Given the description of an element on the screen output the (x, y) to click on. 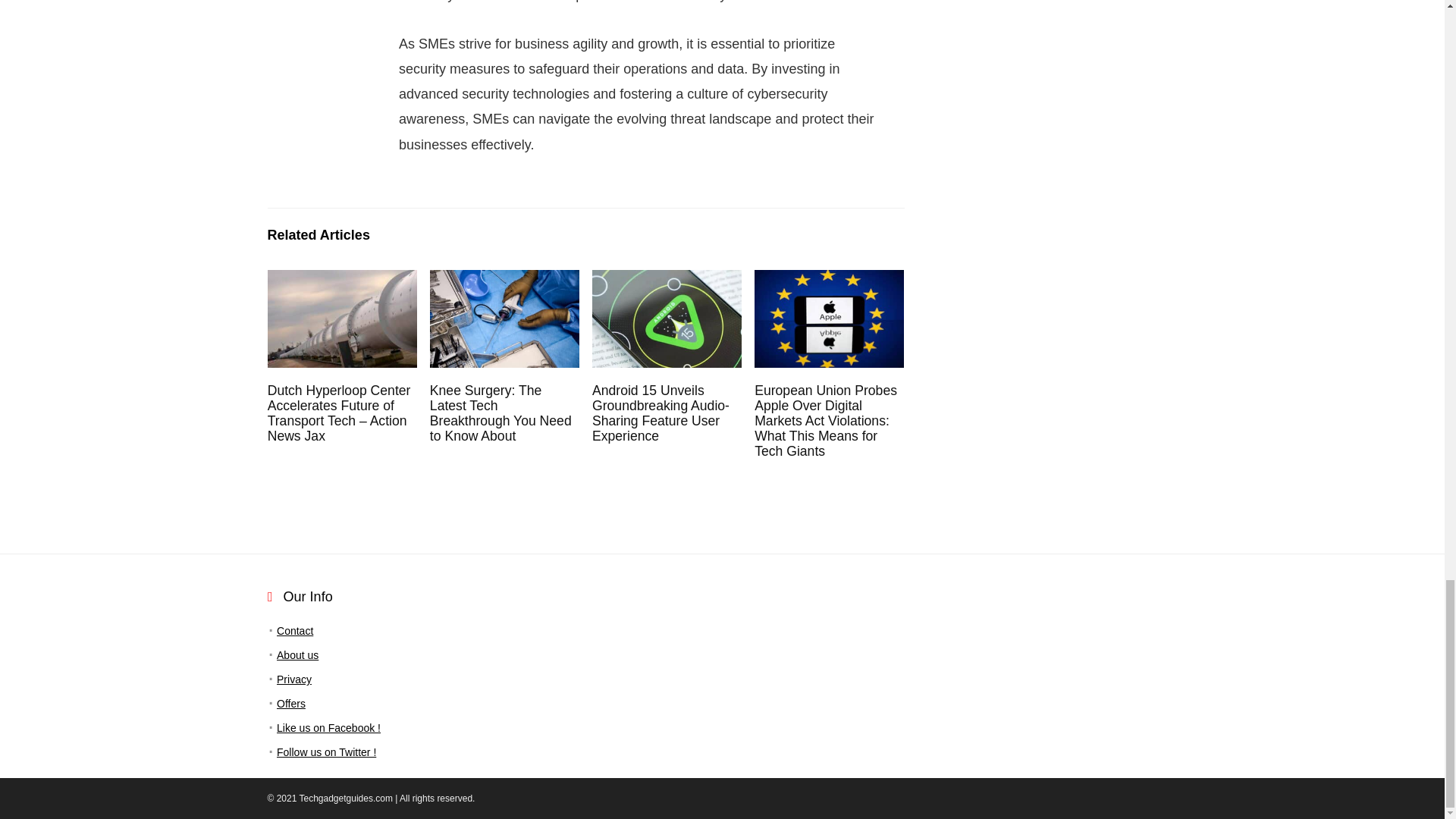
Contact (294, 630)
About us (297, 654)
